Given the description of an element on the screen output the (x, y) to click on. 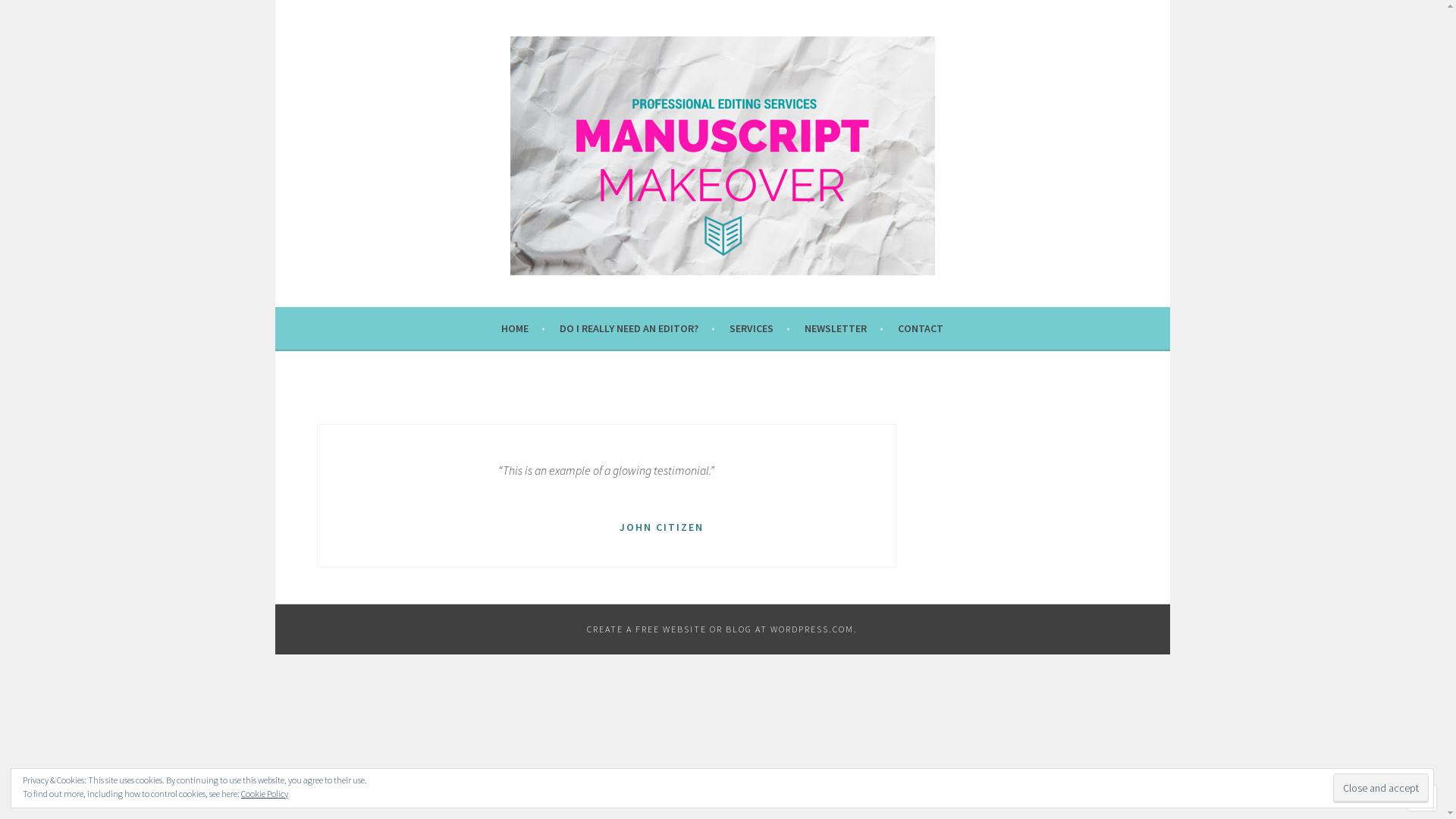
Cookie Policy Element type: text (264, 793)
Close and accept Element type: text (1380, 788)
CREATE A FREE WEBSITE OR BLOG AT WORDPRESS.COM. Element type: text (721, 628)
MANUSCRIPT MAKEOVER Element type: text (451, 315)
DO I REALLY NEED AN EDITOR? Element type: text (637, 328)
HOME Element type: text (523, 328)
NEWSLETTER Element type: text (843, 328)
CONTACT Element type: text (920, 328)
SERVICES Element type: text (759, 328)
